Given the description of an element on the screen output the (x, y) to click on. 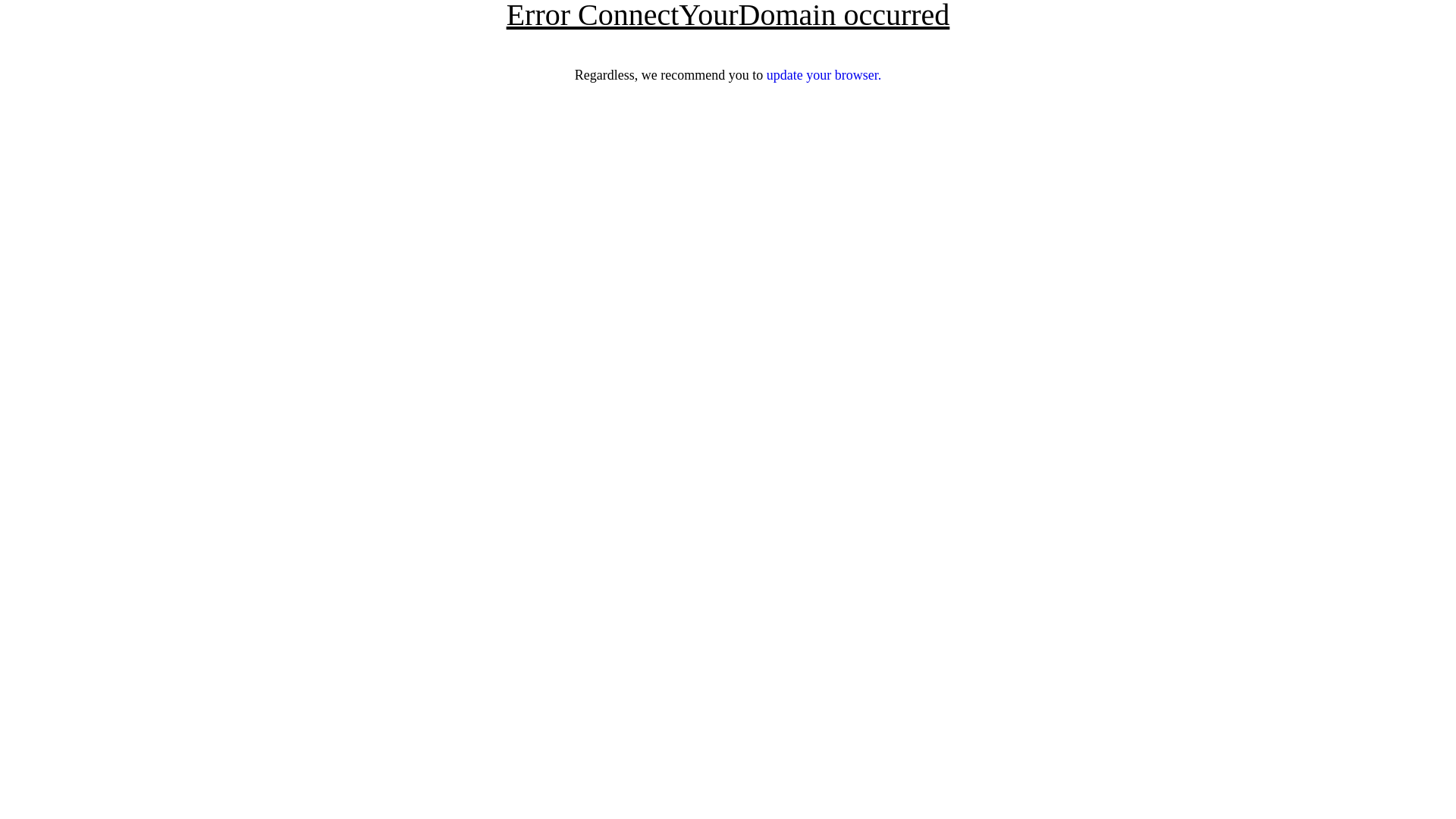
update your browser. Element type: text (823, 74)
